Given the description of an element on the screen output the (x, y) to click on. 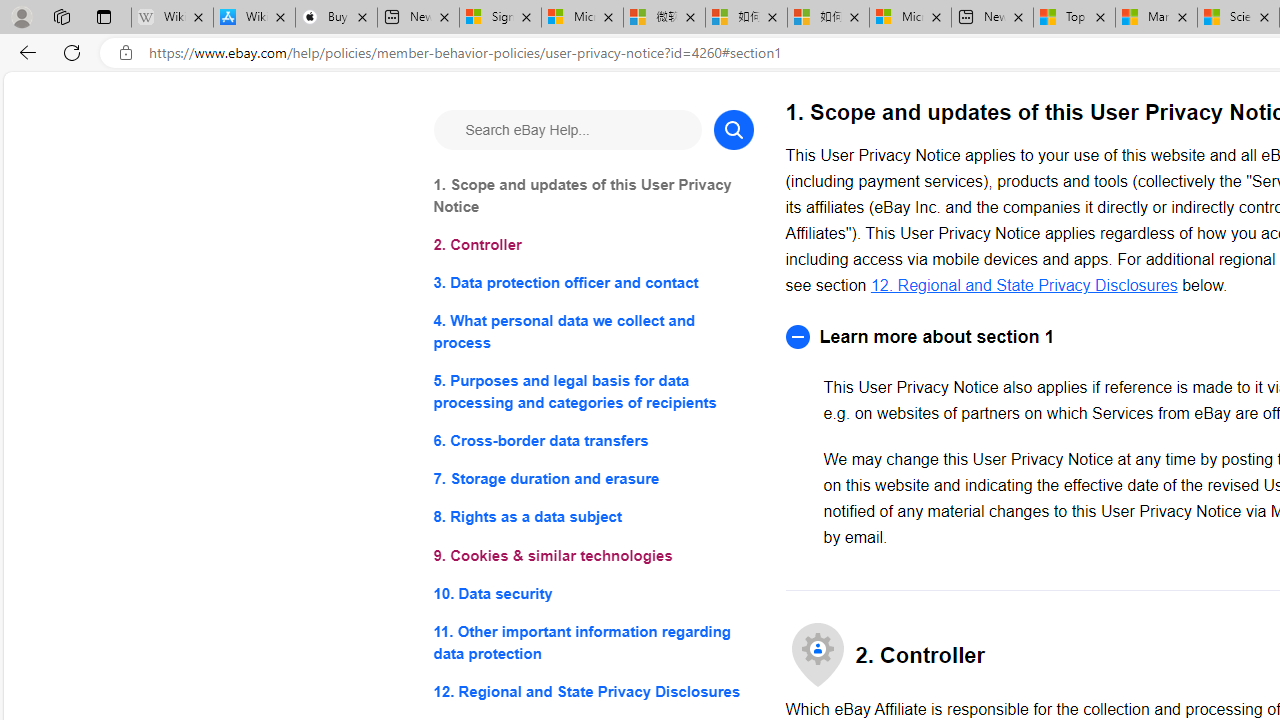
Microsoft Services Agreement (582, 17)
10. Data security (592, 592)
4. What personal data we collect and process (592, 332)
3. Data protection officer and contact (592, 283)
Marine life - MSN (1156, 17)
Wikipedia - Sleeping (171, 17)
7. Storage duration and erasure (592, 479)
8. Rights as a data subject (592, 517)
Top Stories - MSN (1074, 17)
